Given the description of an element on the screen output the (x, y) to click on. 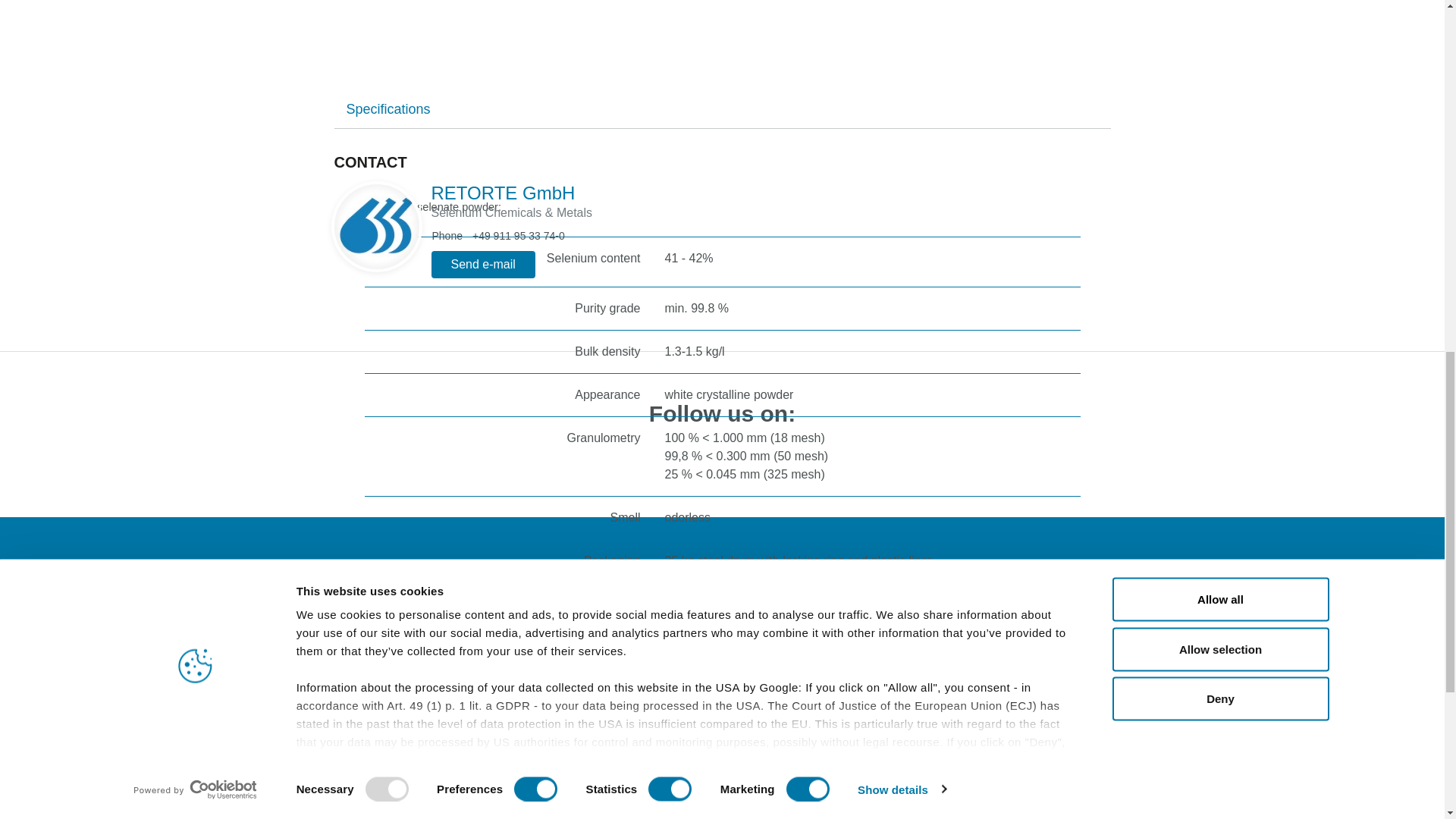
Youtube (811, 458)
Linkedin (587, 458)
X (868, 458)
Facebook (643, 458)
Instagram (699, 458)
TikTok (756, 458)
